Given the description of an element on the screen output the (x, y) to click on. 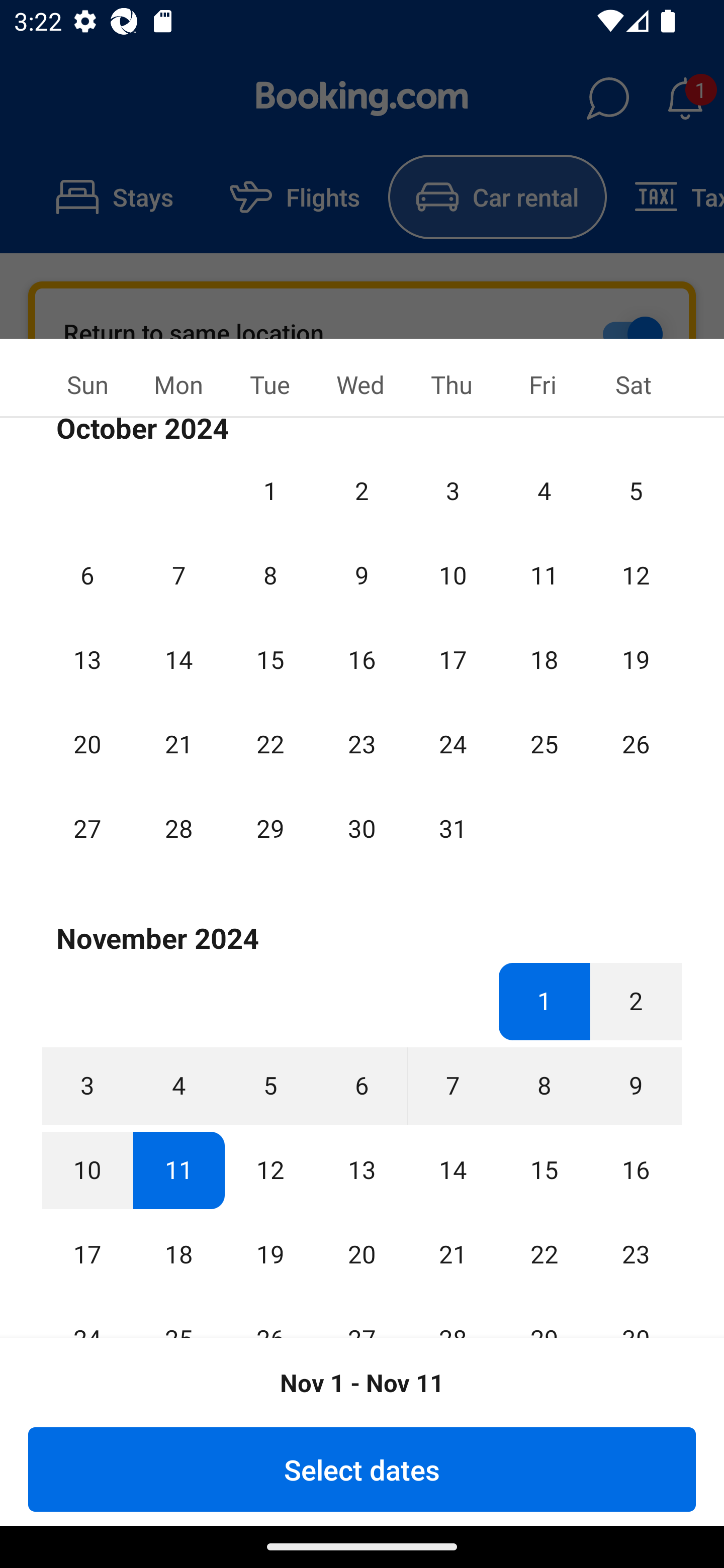
Select dates (361, 1468)
